Given the description of an element on the screen output the (x, y) to click on. 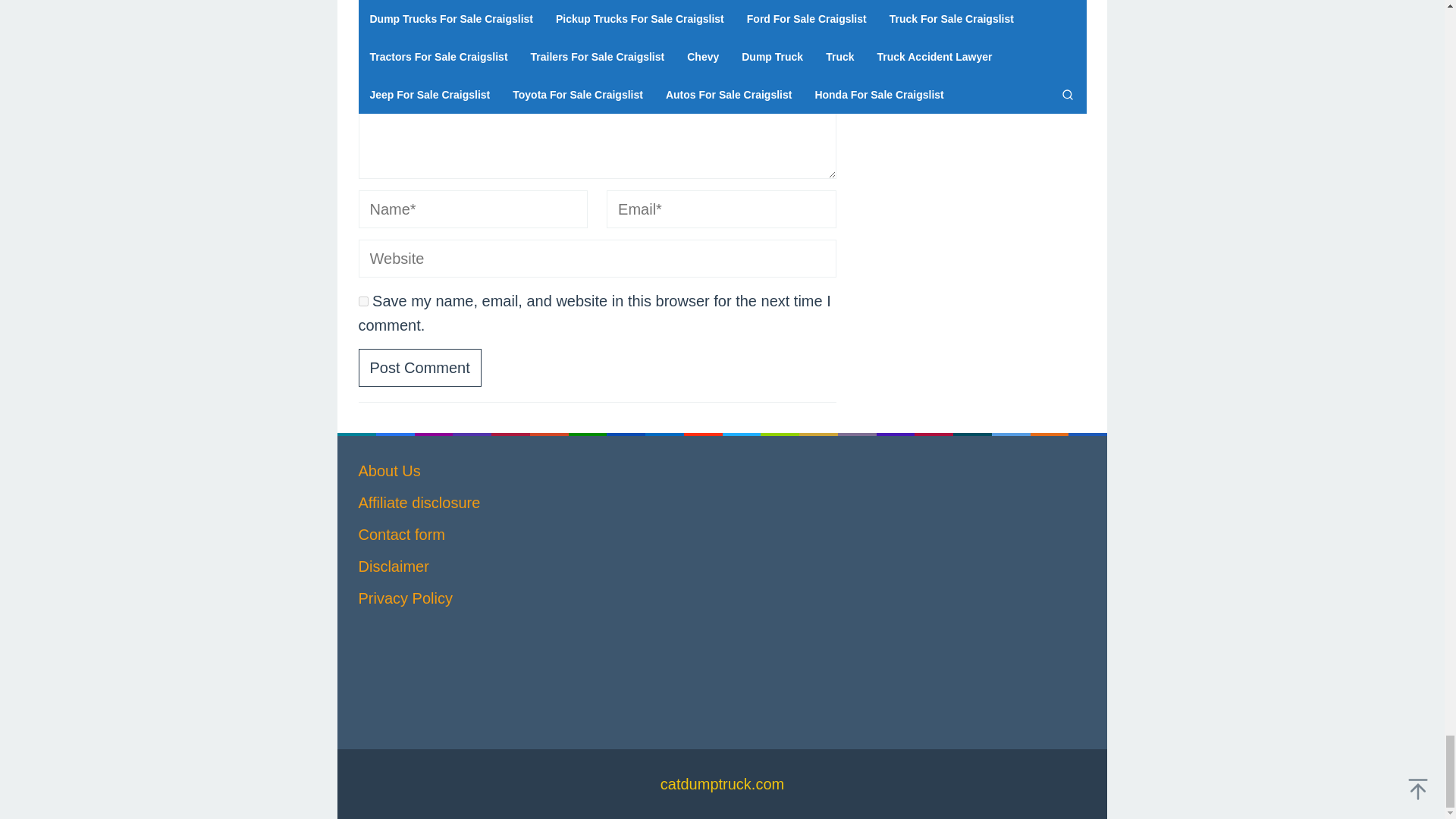
Post Comment (419, 367)
yes (363, 301)
